Given the description of an element on the screen output the (x, y) to click on. 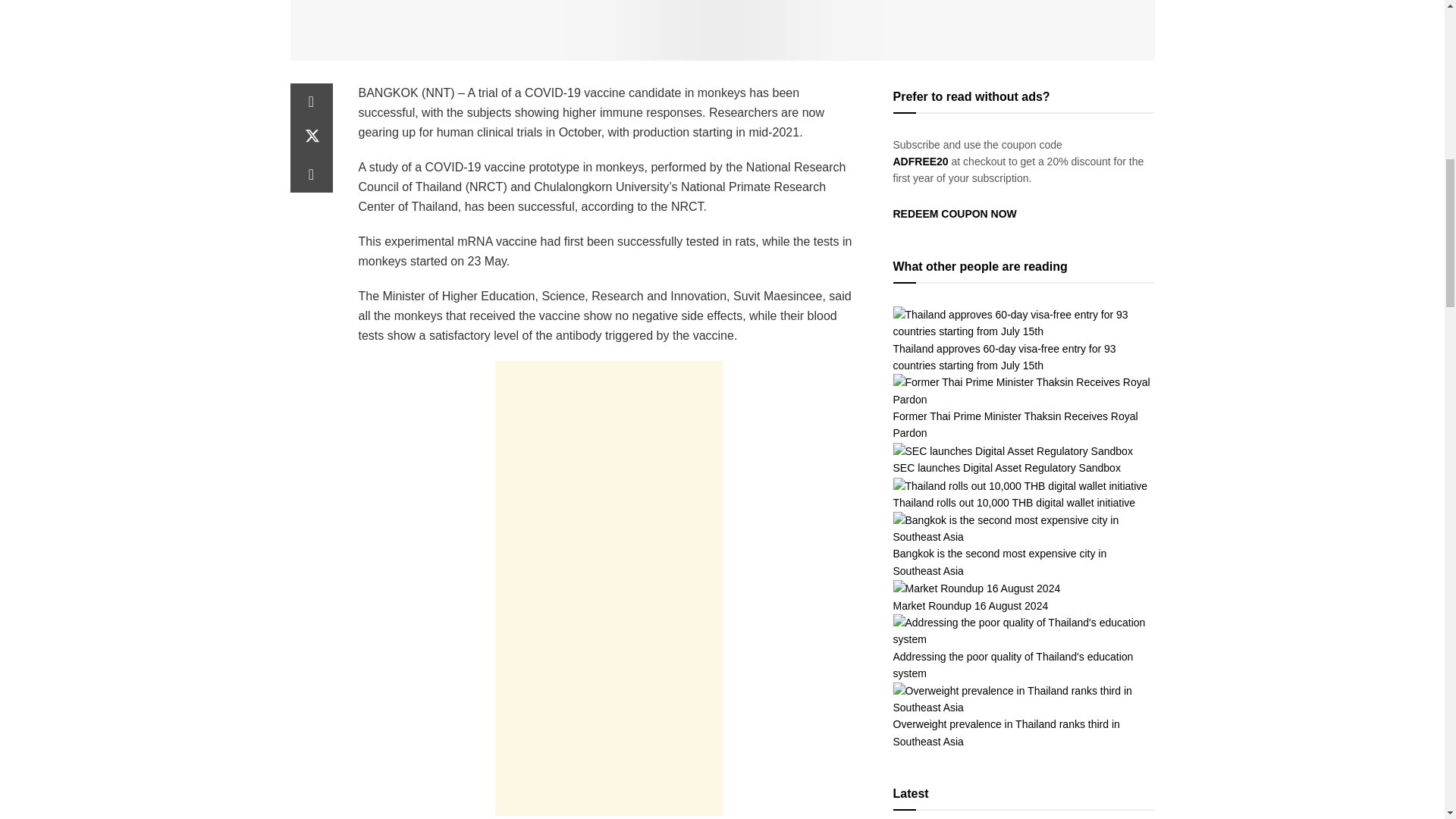
SEC launches Digital Asset Regulatory Sandbox (1007, 467)
Bangkok is the second most expensive city in Southeast Asia (1023, 527)
SEC launches Digital Asset Regulatory Sandbox (1012, 450)
Thailand rolls out 10,000 THB digital wallet initiative (1020, 485)
Former Thai Prime Minister Thaksin Receives Royal Pardon (1015, 424)
Former Thai Prime Minister Thaksin Receives Royal Pardon (1023, 389)
Thailand rolls out 10,000 THB digital wallet initiative (1014, 502)
